Given the description of an element on the screen output the (x, y) to click on. 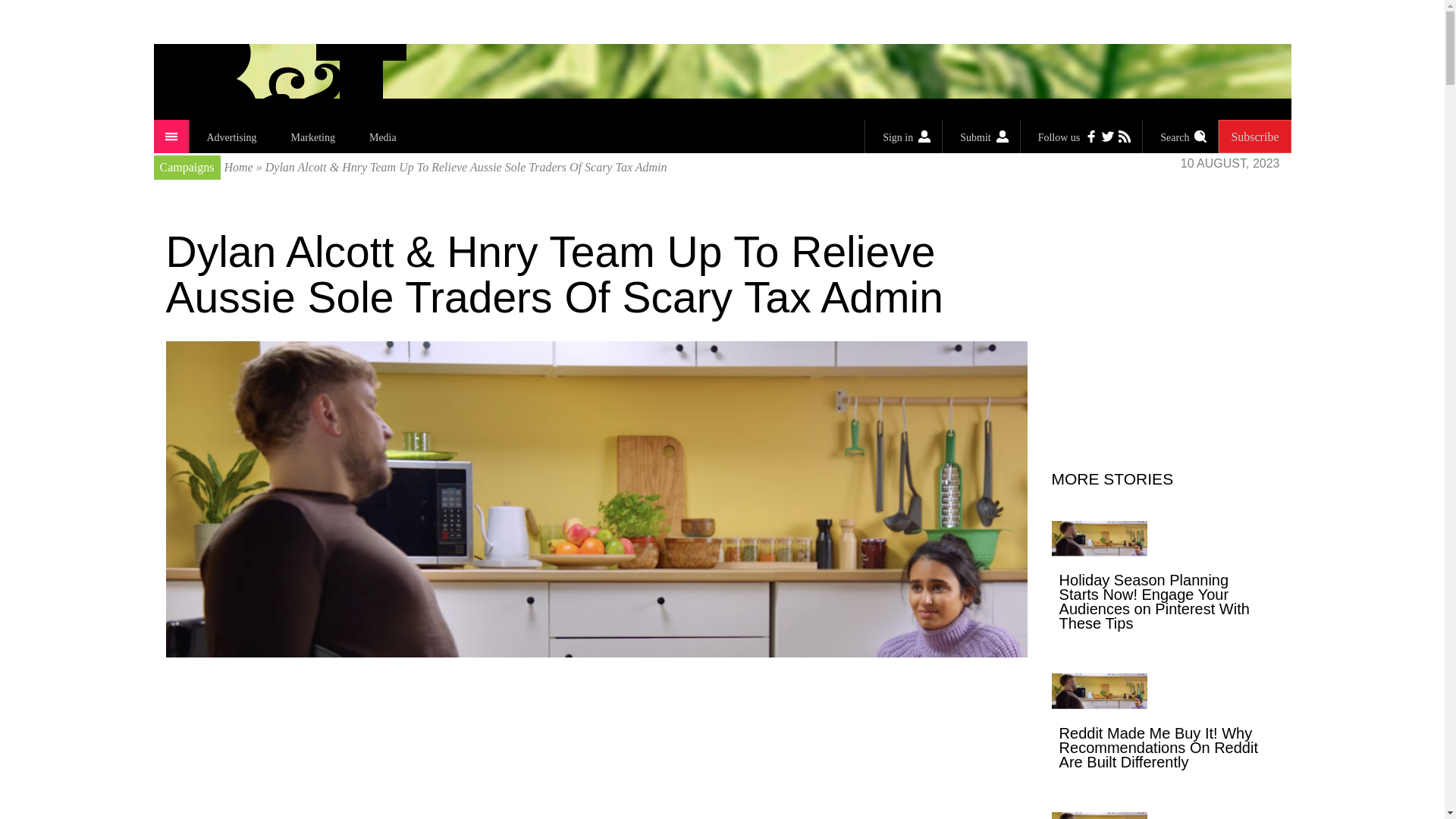
Media (382, 136)
Sign in (903, 136)
Subscribe (1254, 136)
Advertising (231, 136)
Submit (980, 136)
Marketing (312, 136)
